Given the description of an element on the screen output the (x, y) to click on. 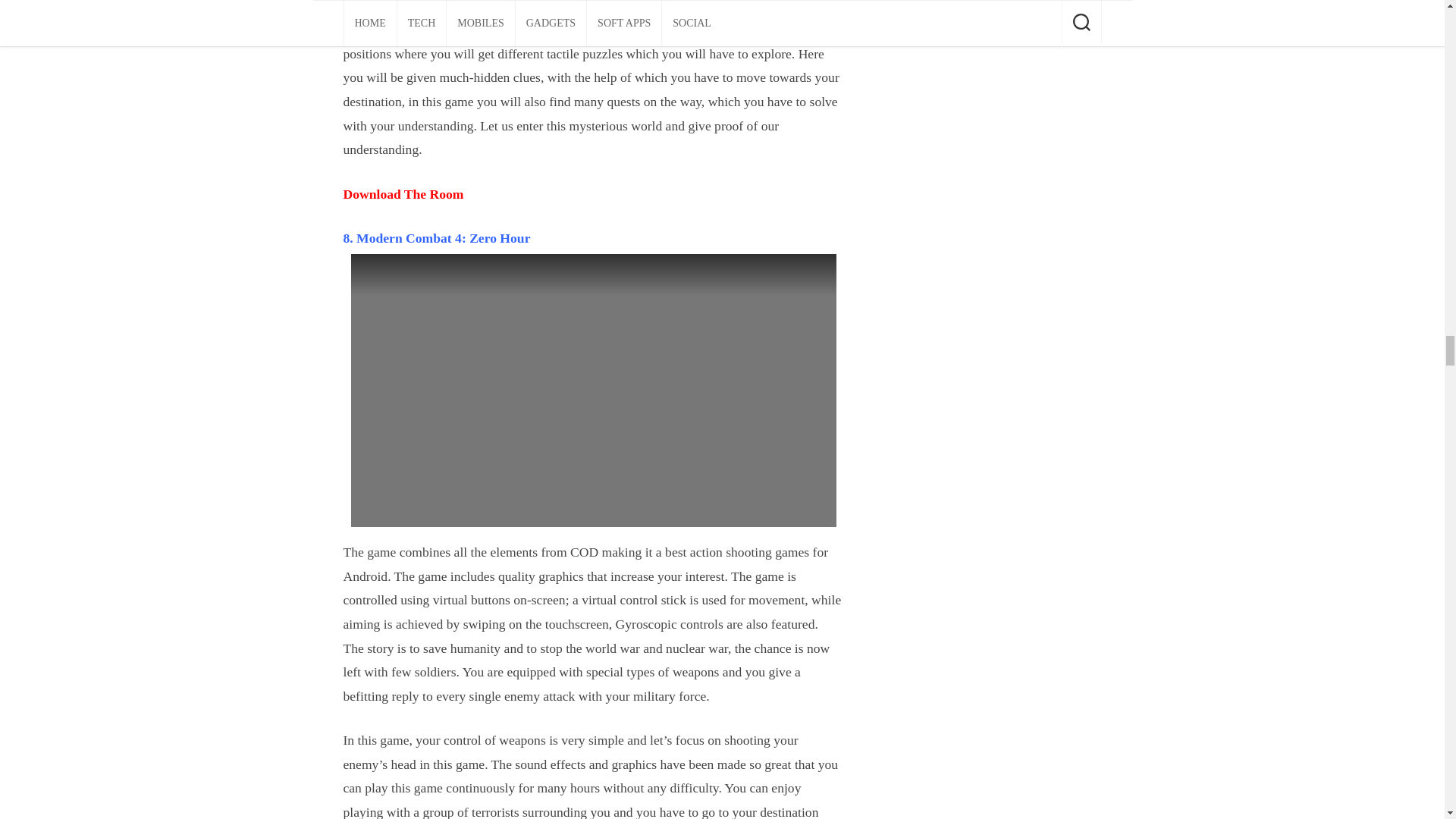
Download The Room (402, 193)
